Given the description of an element on the screen output the (x, y) to click on. 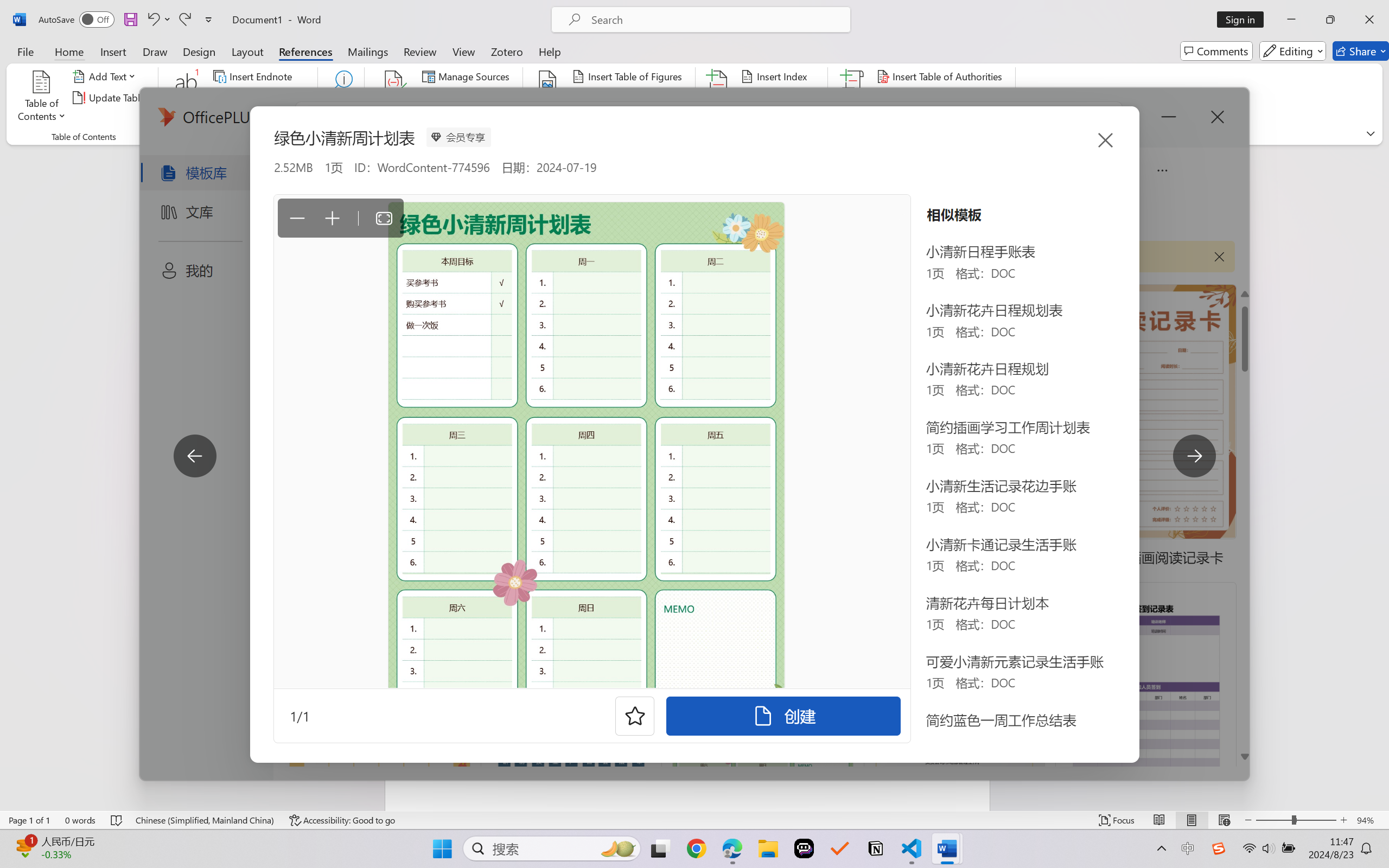
Footnote and Endnote Dialog... (311, 136)
Style (483, 96)
Undo Apply Quick Style Set (152, 19)
Search (341, 97)
Show Notes (248, 118)
Update Table (914, 97)
Update Table... (110, 97)
